Given the description of an element on the screen output the (x, y) to click on. 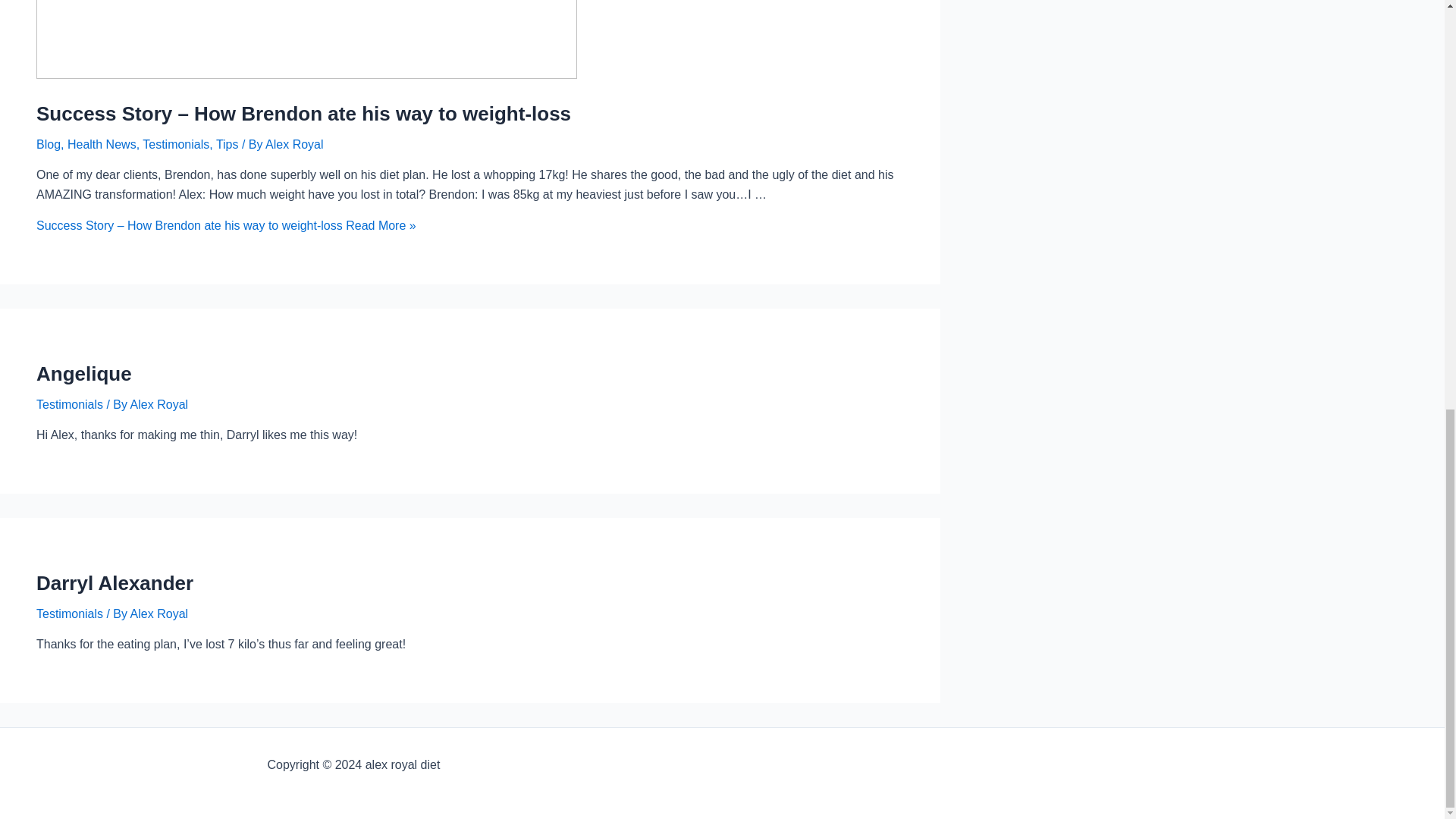
View all posts by Alex Royal (159, 613)
View all posts by Alex Royal (159, 404)
Blog (48, 144)
Testimonials (69, 613)
View all posts by Alex Royal (293, 144)
Testimonials (69, 404)
Alex Royal (293, 144)
Tips (226, 144)
Alex Royal (159, 613)
Testimonials (175, 144)
Darryl Alexander (114, 582)
Alex Royal (159, 404)
Angelique (84, 373)
Health News (101, 144)
